Given the description of an element on the screen output the (x, y) to click on. 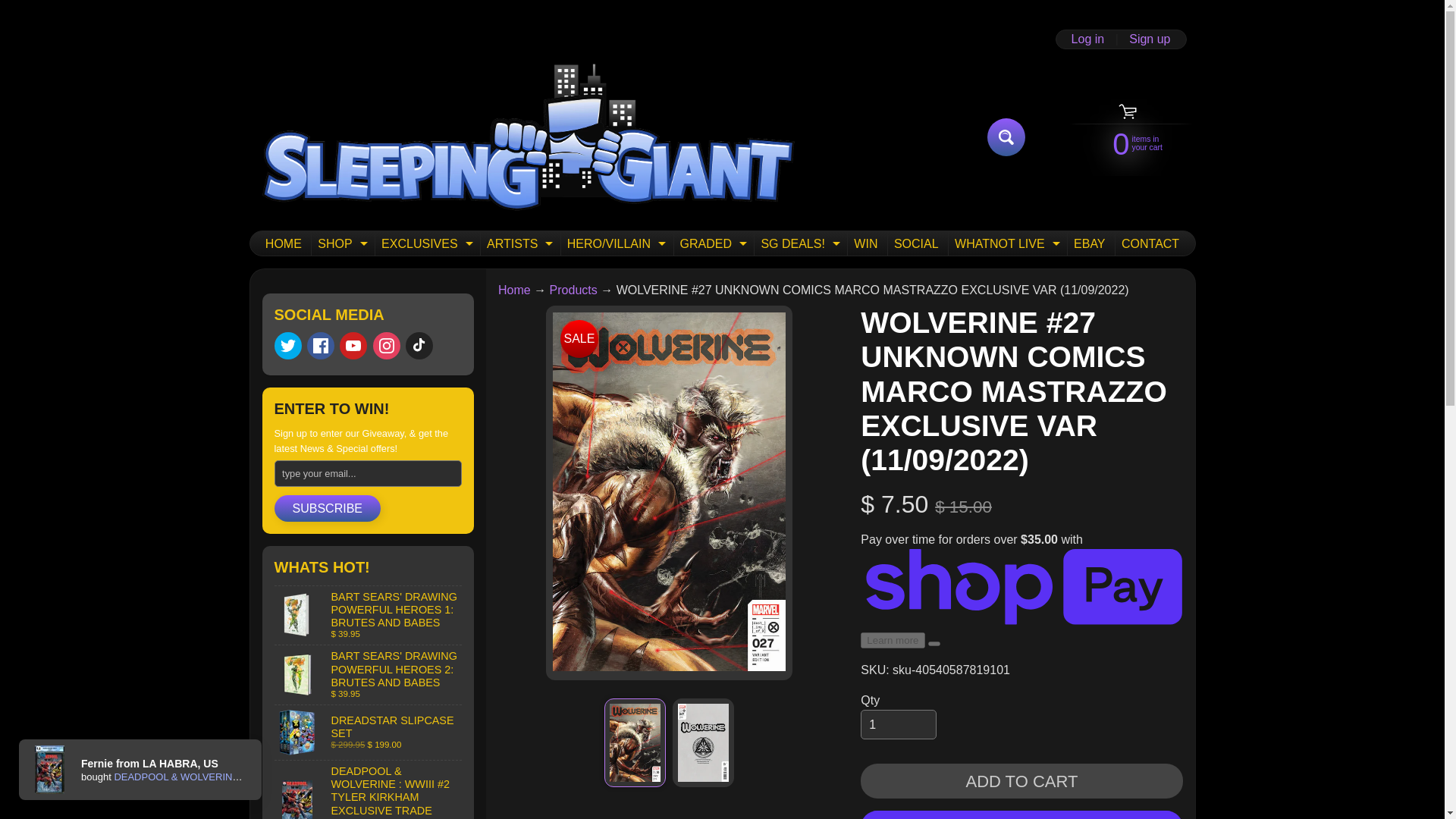
BART SEARS' DRAWING POWERFUL HEROES 1: BRUTES AND BABES (369, 615)
Facebook (320, 345)
Instagram (386, 345)
HOME (283, 242)
1 (898, 725)
Youtube (425, 242)
Back to the home page (352, 345)
DREADSTAR SLIPCASE SET (514, 289)
Sign up (369, 732)
Log in (518, 242)
SEARCH (1149, 39)
BART SEARS' DRAWING POWERFUL HEROES 2: BRUTES AND BABES (1088, 39)
SKIP TO CONTENT (1006, 136)
